Given the description of an element on the screen output the (x, y) to click on. 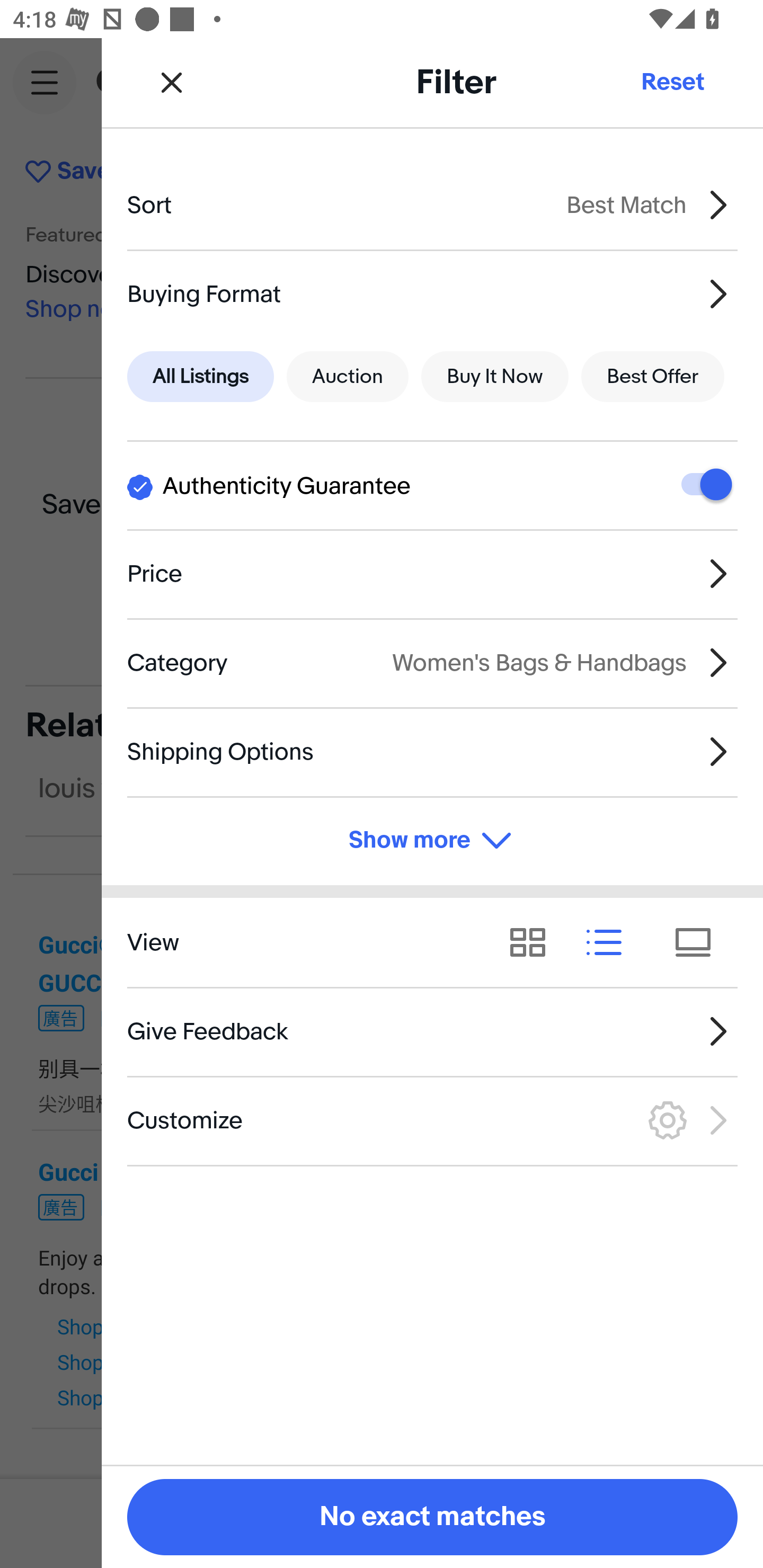
Close Filter (171, 81)
Reset (672, 81)
Buying Format (432, 293)
All Listings (200, 376)
Auction (347, 376)
Buy It Now (494, 376)
Best Offer (652, 376)
I  Authenticity Guarantee (432, 484)
Price (432, 573)
Category Women's Bags & Handbags (432, 662)
Shipping Options (432, 751)
Show more (432, 840)
View results as grid (533, 942)
View results as list (610, 942)
View results as tiles (699, 942)
Customize (432, 1120)
No exact matches (432, 1516)
